Given the description of an element on the screen output the (x, y) to click on. 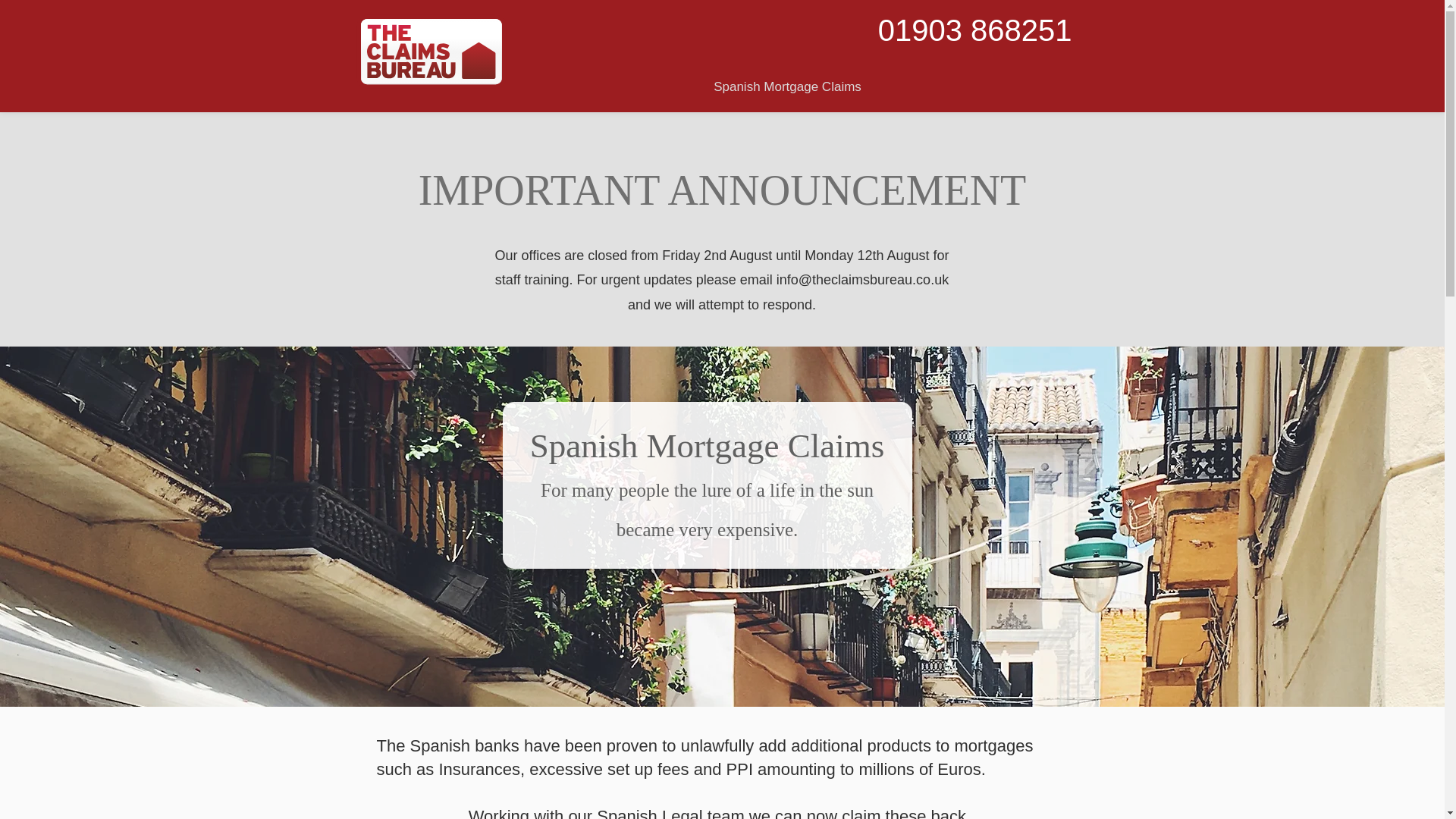
01903 868251 (974, 29)
Spanish Mortgage Claims (786, 80)
